Given the description of an element on the screen output the (x, y) to click on. 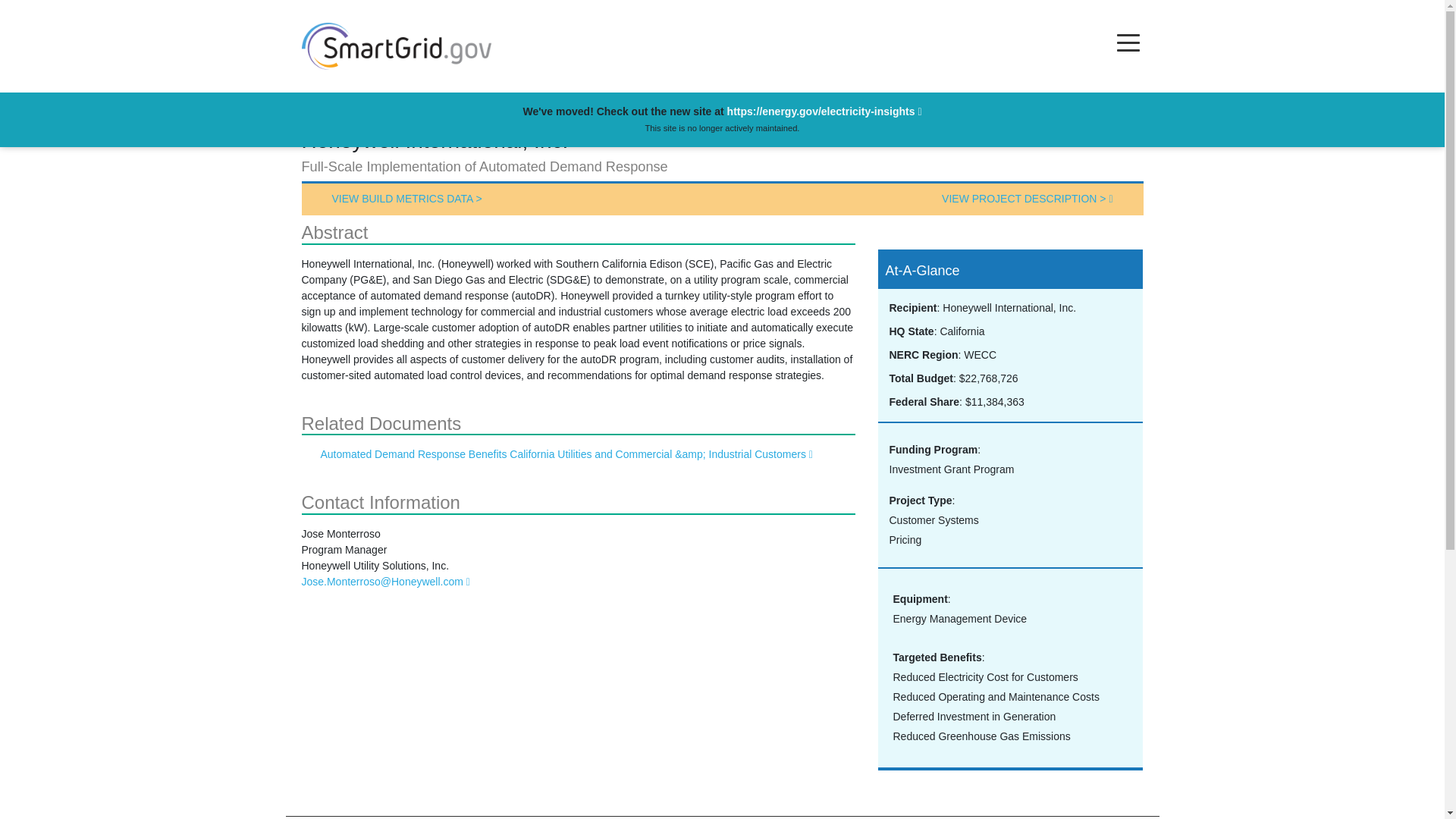
Back (323, 110)
Toggle navigation (1127, 42)
